Given the description of an element on the screen output the (x, y) to click on. 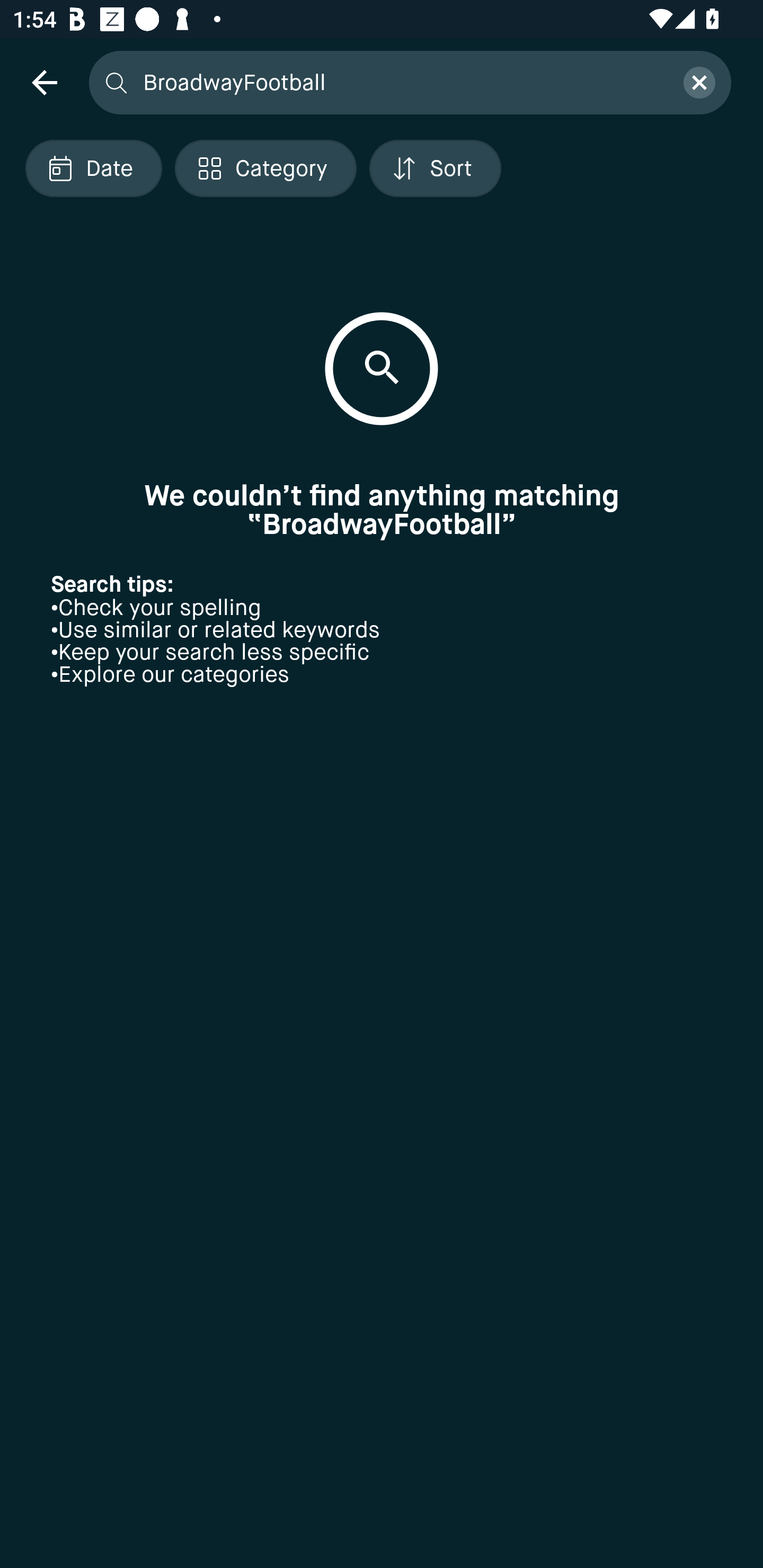
navigation icon (44, 81)
BroadwayFootball (402, 81)
Localized description Date (93, 168)
Localized description Category (265, 168)
Localized description Sort (435, 168)
